Given the description of an element on the screen output the (x, y) to click on. 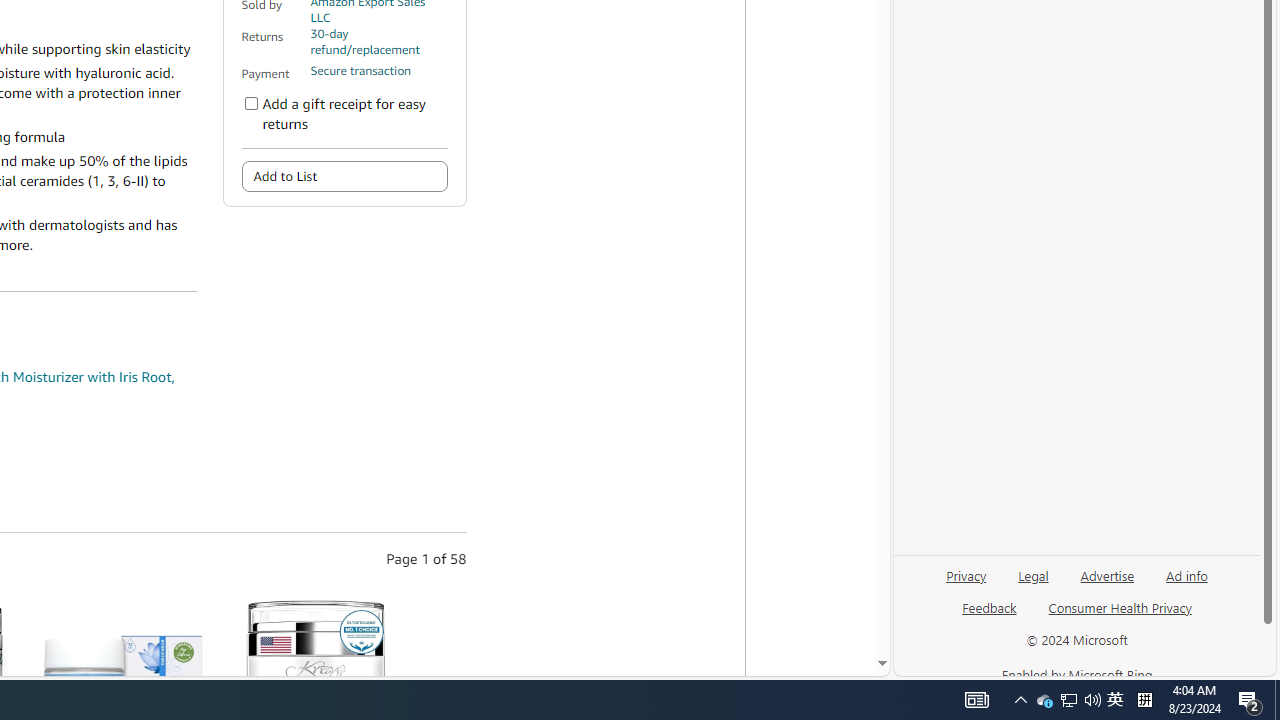
Secure transaction (360, 71)
Add a gift receipt for easy returns (251, 103)
Add to List (343, 176)
30-day refund/replacement (378, 41)
